Given the description of an element on the screen output the (x, y) to click on. 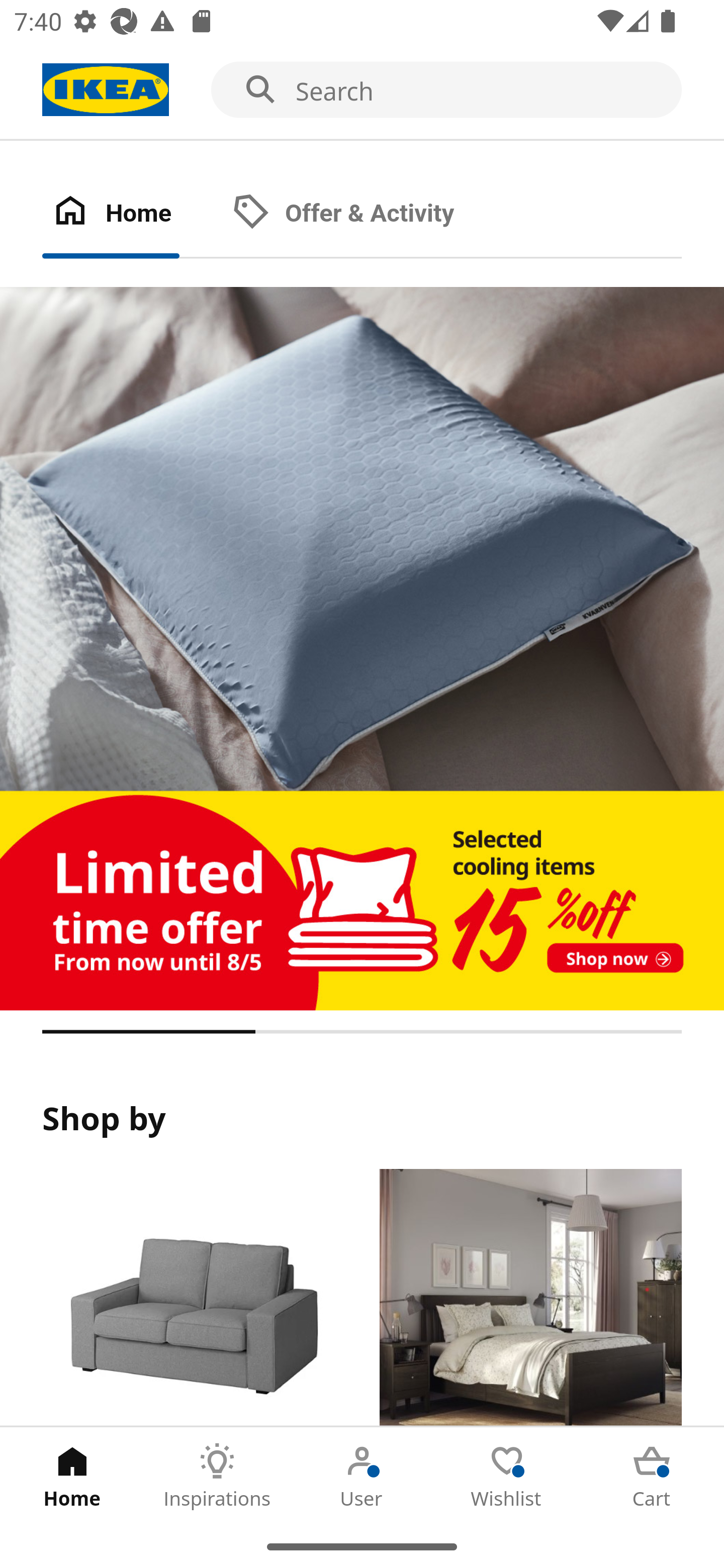
Search (361, 90)
Home
Tab 1 of 2 (131, 213)
Offer & Activity
Tab 2 of 2 (363, 213)
Products (192, 1297)
Rooms (530, 1297)
Home
Tab 1 of 5 (72, 1476)
Inspirations
Tab 2 of 5 (216, 1476)
User
Tab 3 of 5 (361, 1476)
Wishlist
Tab 4 of 5 (506, 1476)
Cart
Tab 5 of 5 (651, 1476)
